Given the description of an element on the screen output the (x, y) to click on. 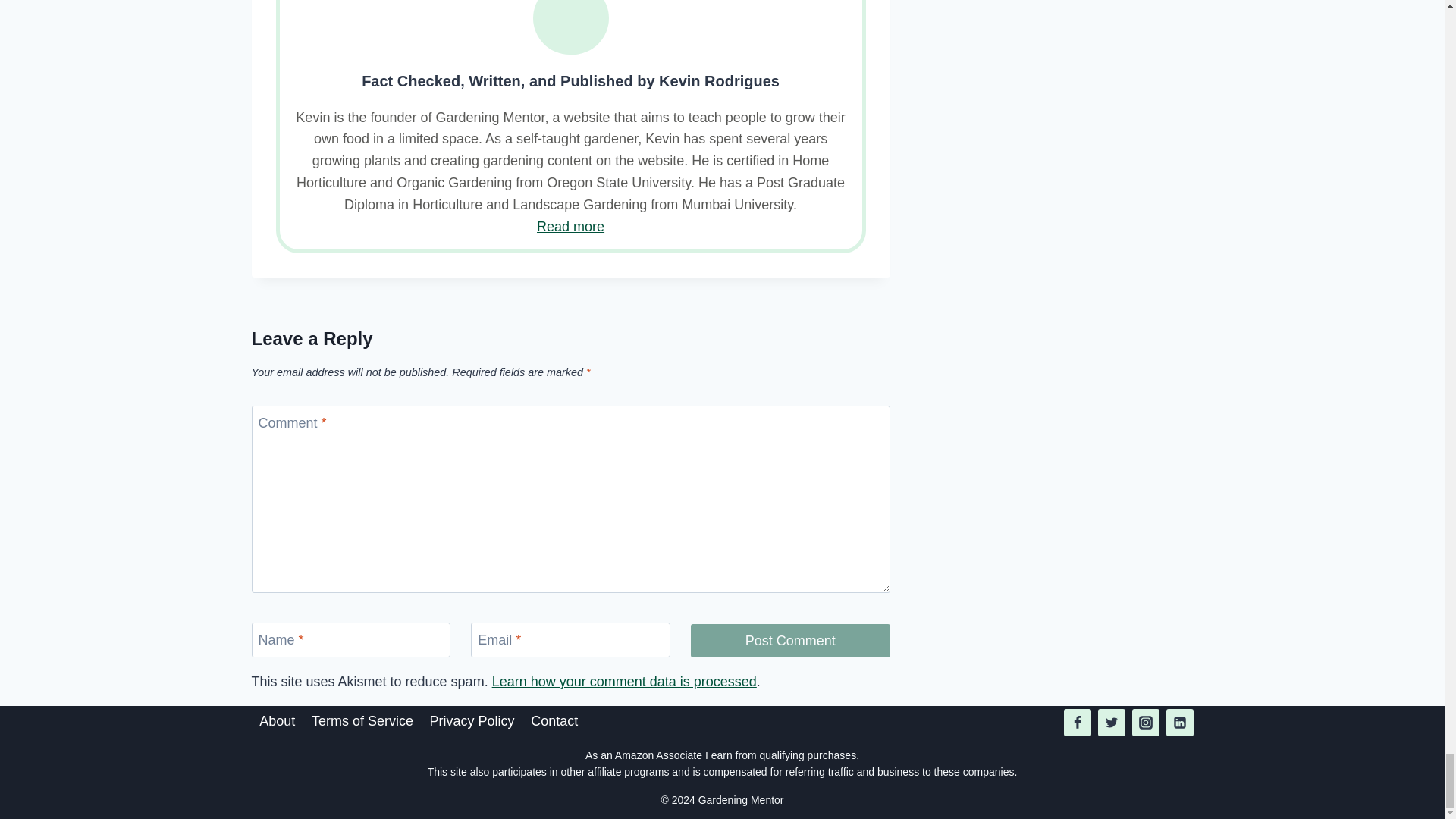
Post Comment (789, 640)
Read more (570, 226)
Post Comment (789, 640)
Learn how your comment data is processed (624, 681)
